Given the description of an element on the screen output the (x, y) to click on. 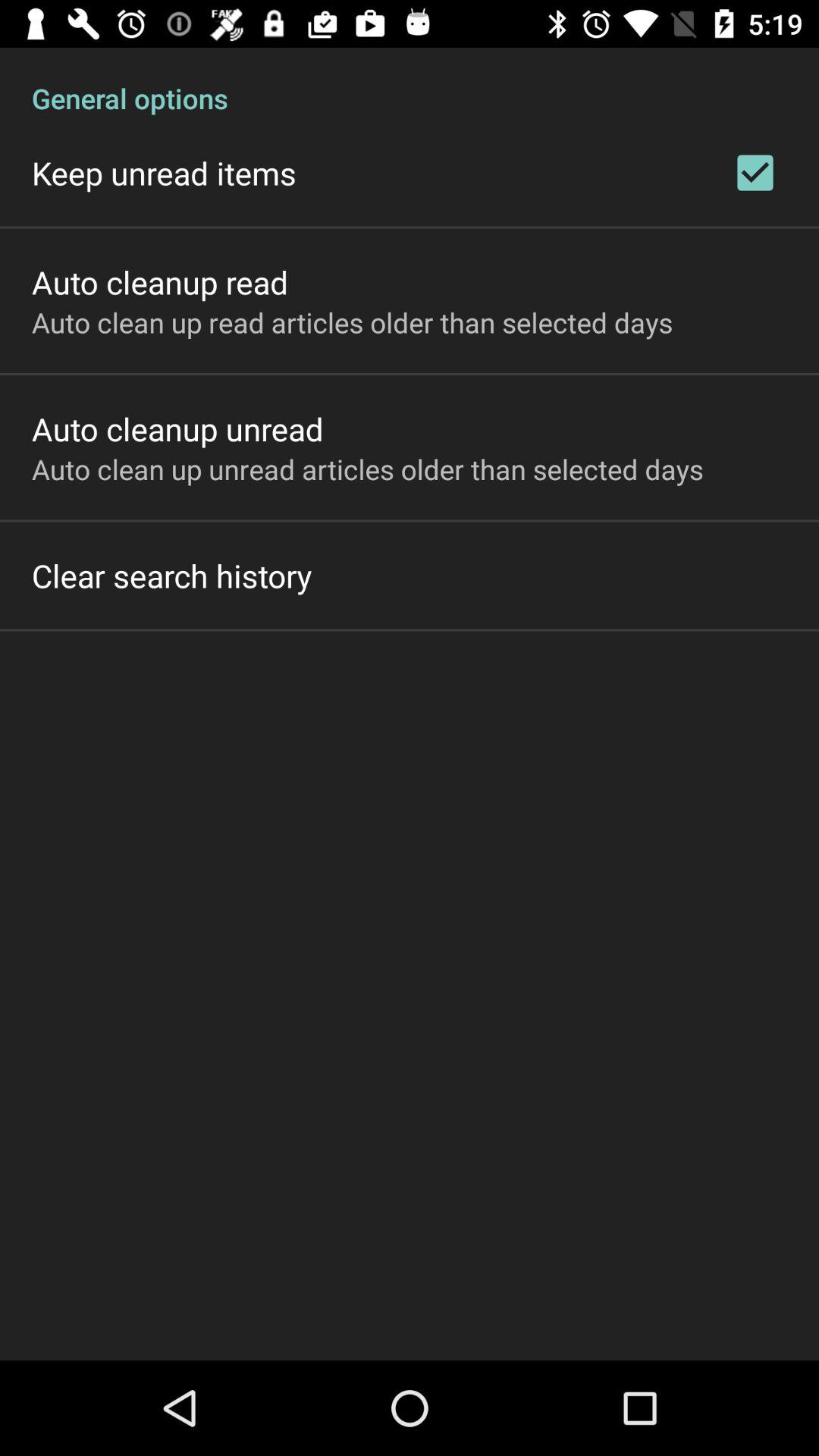
turn on the clear search history icon (171, 575)
